Given the description of an element on the screen output the (x, y) to click on. 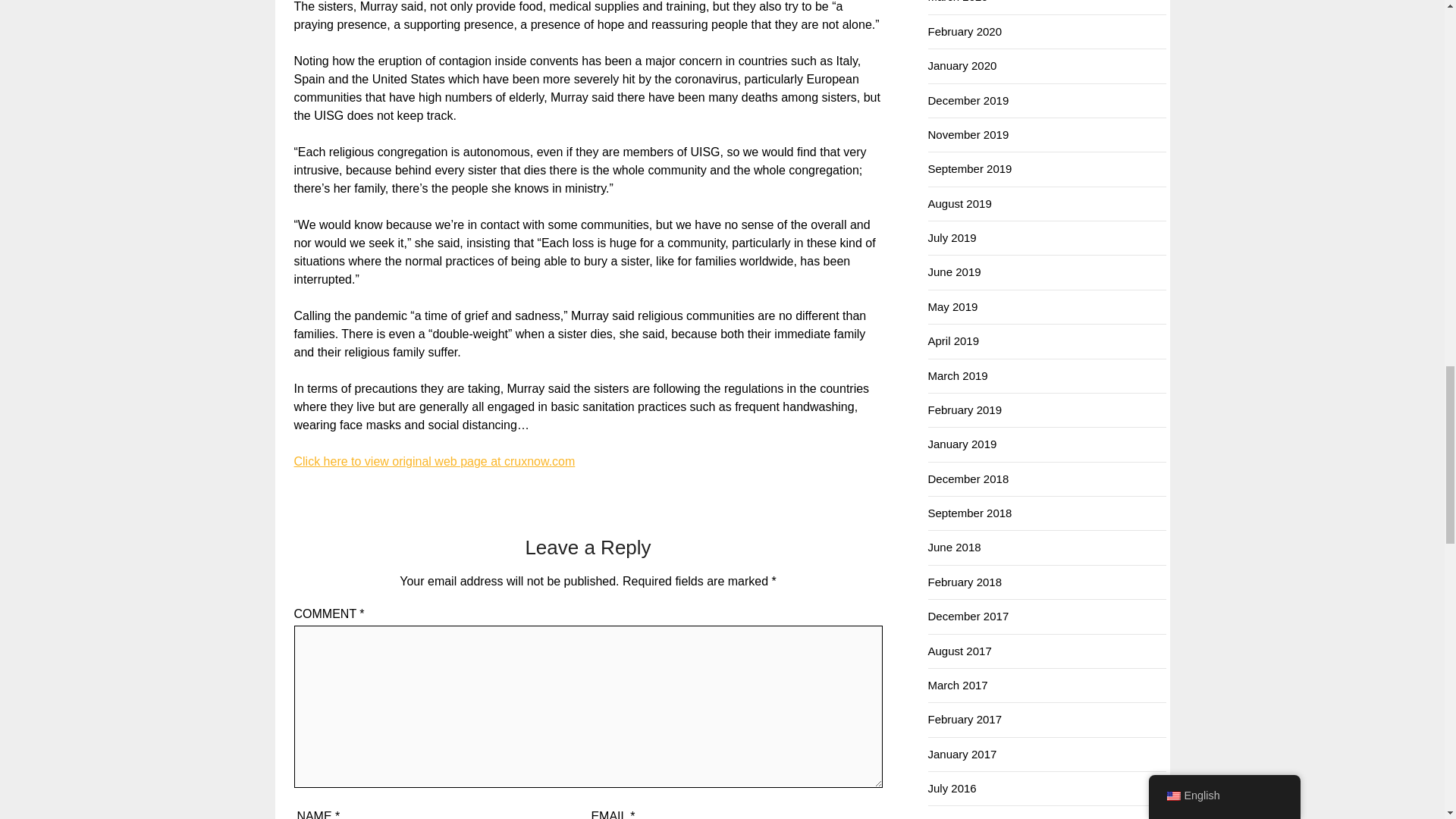
December 2019 (968, 100)
Click here to view original web page at cruxnow.com (434, 461)
February 2020 (965, 31)
March 2020 (958, 1)
January 2020 (962, 65)
